Given the description of an element on the screen output the (x, y) to click on. 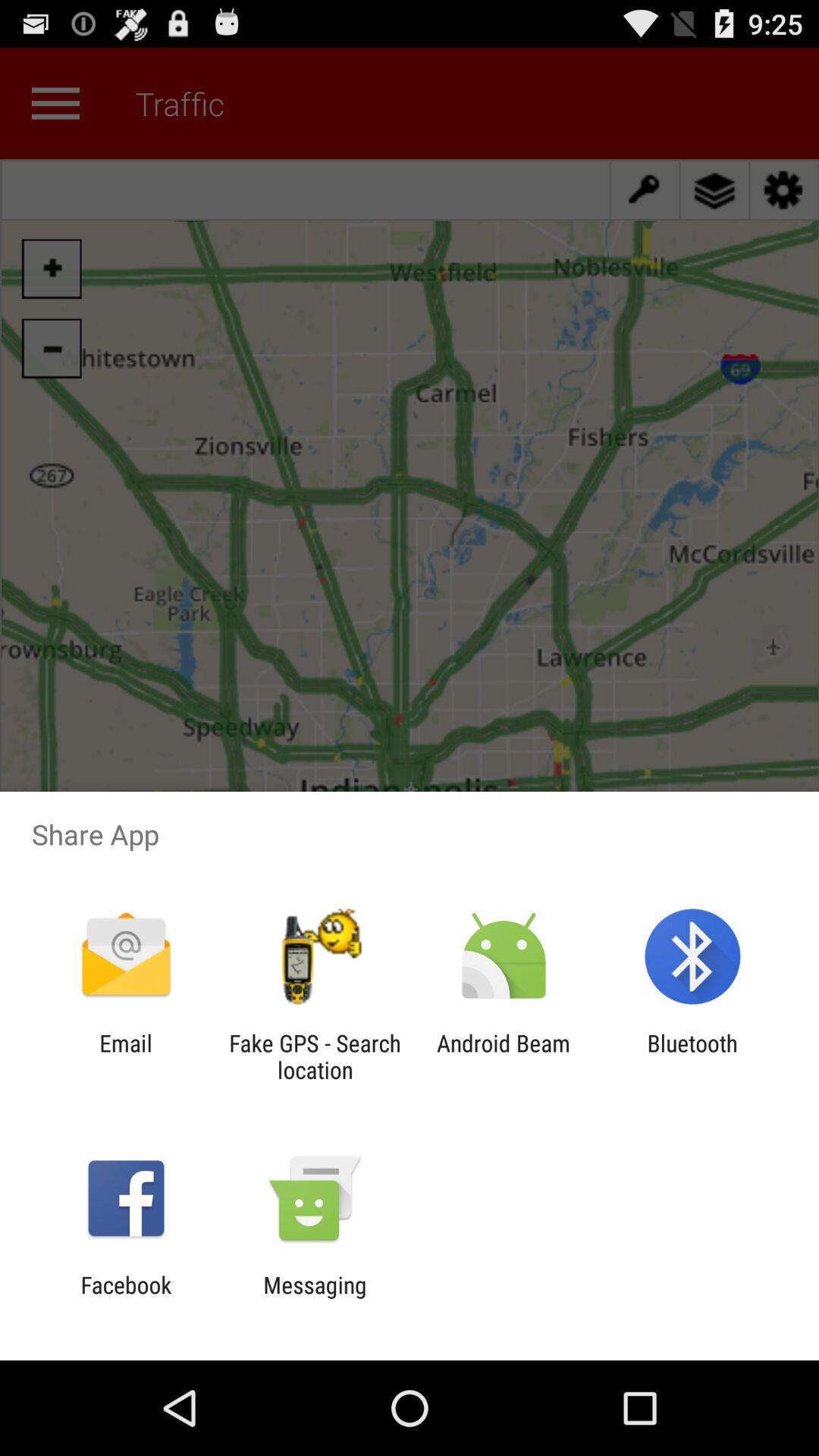
select icon to the left of the fake gps search icon (125, 1056)
